Given the description of an element on the screen output the (x, y) to click on. 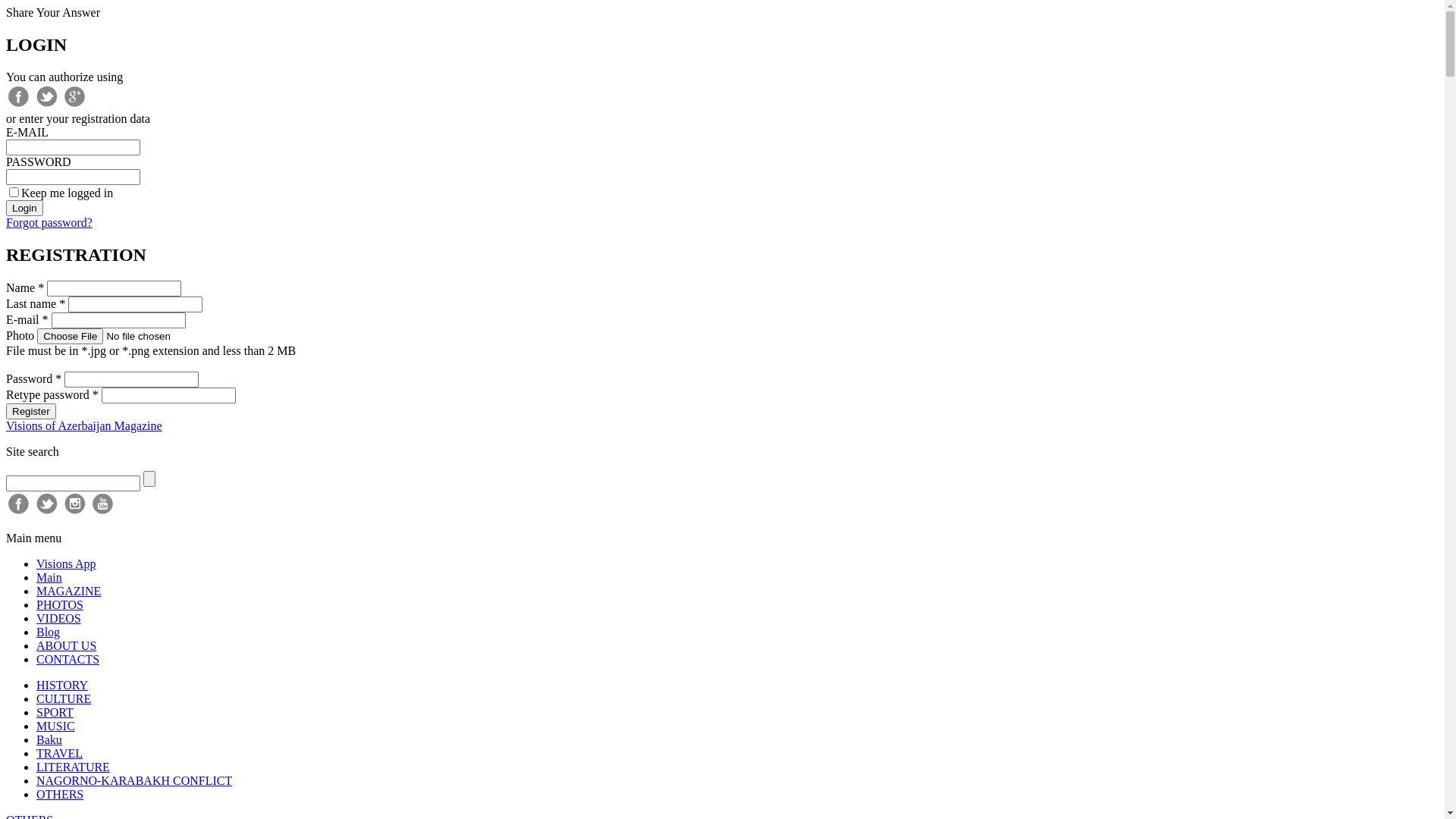
Blog Element type: text (47, 631)
Twitter Element type: hover (46, 511)
MUSIC Element type: text (55, 725)
HISTORY Element type: text (61, 684)
CULTURE Element type: text (63, 698)
Google+ Element type: hover (74, 104)
Login Element type: text (24, 208)
TRAVEL Element type: text (59, 752)
NAGORNO-KARABAKH CONFLICT Element type: text (134, 780)
Facebook Element type: hover (18, 104)
Visions App Element type: text (66, 563)
Twitter Element type: hover (46, 104)
Baku Element type: text (49, 739)
Instagram Element type: hover (74, 511)
LITERATURE Element type: text (72, 766)
VIDEOS Element type: text (58, 617)
SPORT Element type: text (54, 712)
CONTACTS Element type: text (67, 658)
Main Element type: text (49, 577)
Forgot password? Element type: text (49, 222)
ABOUT US Element type: text (66, 645)
PHOTOS Element type: text (59, 604)
Youtube Element type: hover (102, 511)
Facebook Element type: hover (18, 511)
Register Element type: text (31, 411)
Visions of Azerbaijan Magazine Element type: text (84, 425)
OTHERS Element type: text (59, 793)
MAGAZINE Element type: text (68, 590)
